Given the description of an element on the screen output the (x, y) to click on. 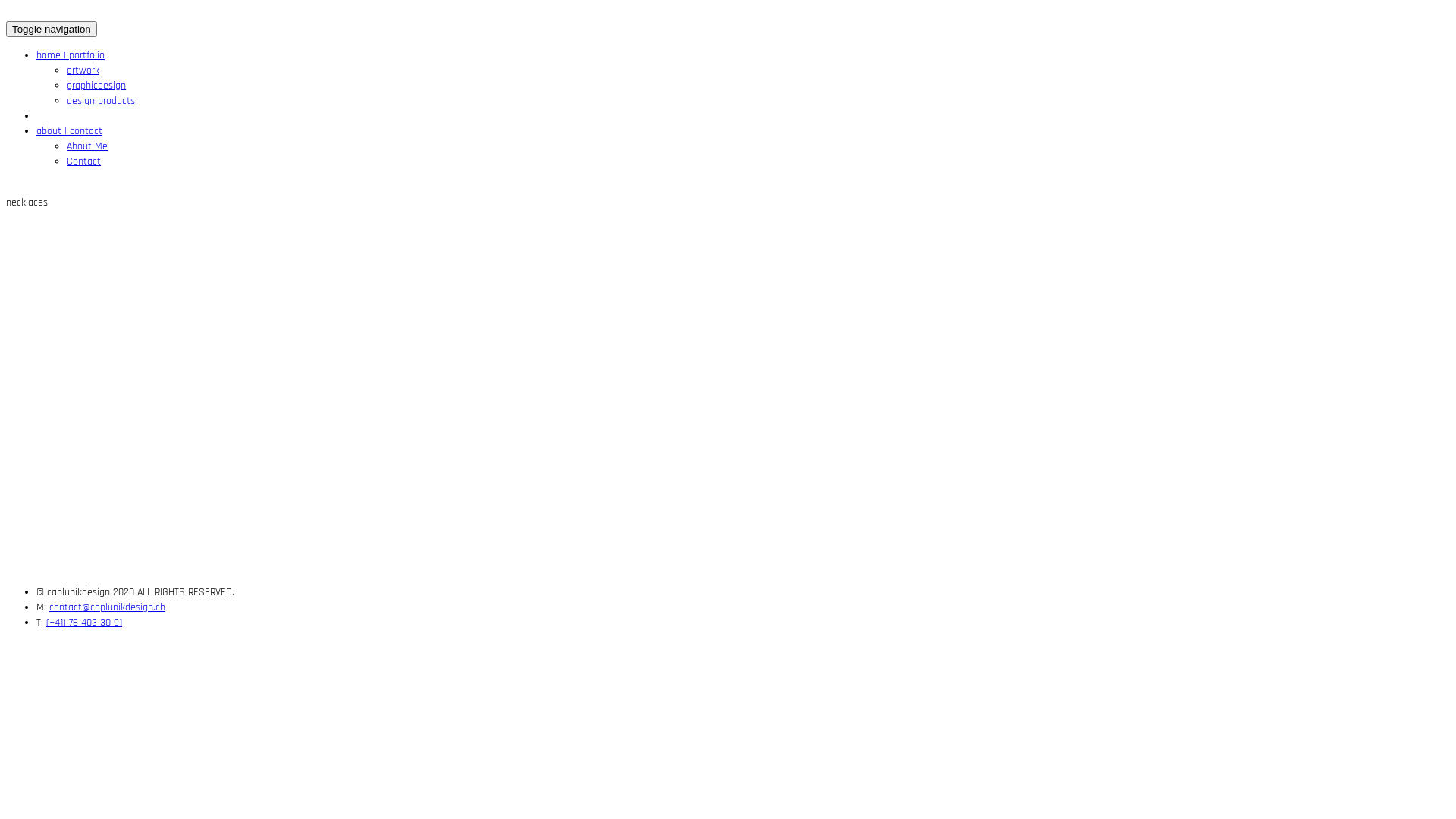
graphicdesign Element type: text (95, 85)
(+41) 76 403 30 91 Element type: text (84, 622)
Contact Element type: text (83, 161)
Toggle navigation Element type: text (51, 29)
design products Element type: text (100, 100)
home | portfolio Element type: text (70, 55)
about | contact Element type: text (69, 131)
contact@caplunikdesign.ch Element type: text (107, 607)
About Me Element type: text (86, 146)
artwork Element type: text (82, 70)
